Given the description of an element on the screen output the (x, y) to click on. 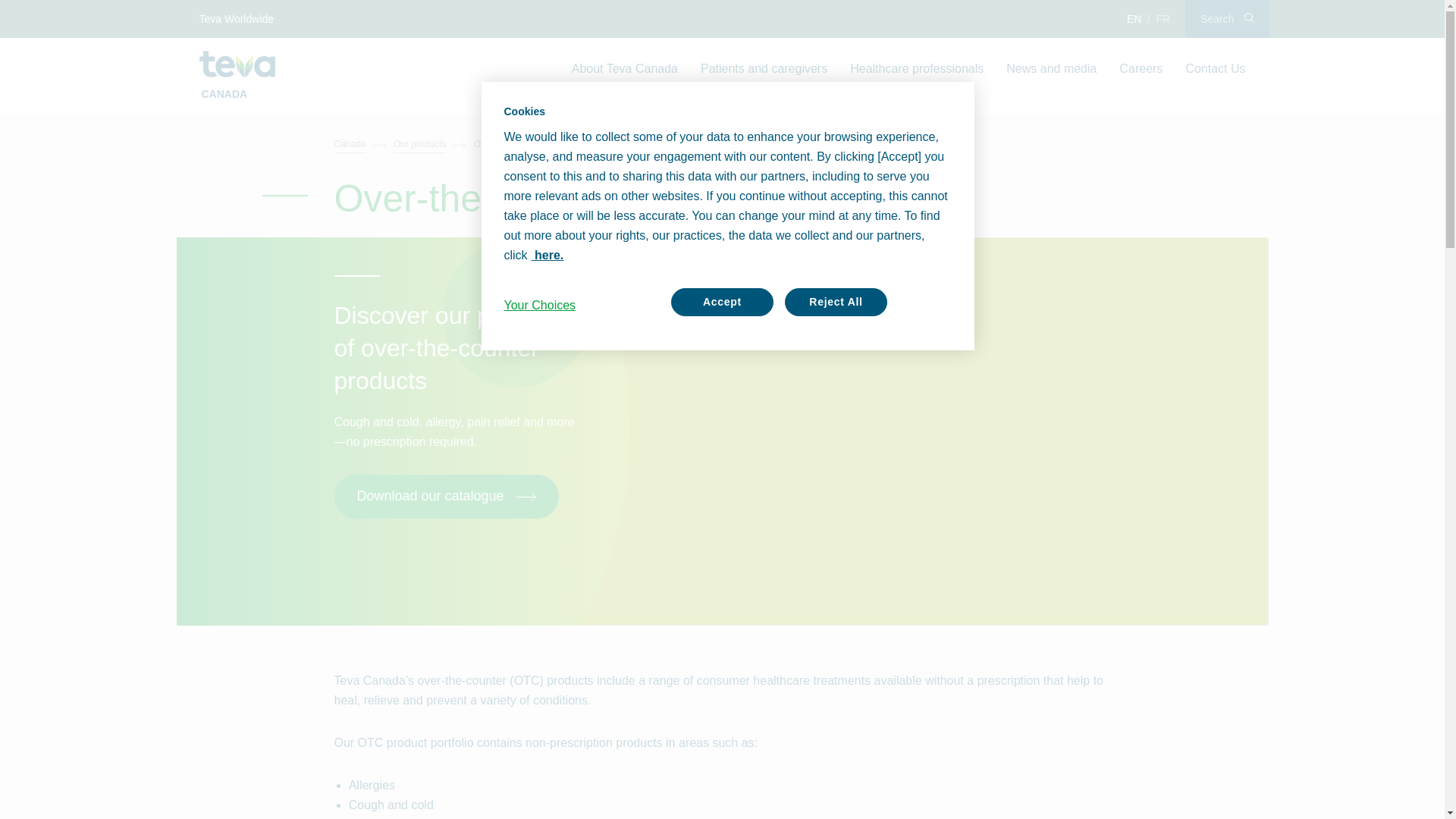
French (1163, 18)
Healthcare professionals (916, 68)
English (1133, 18)
About Teva Canada (624, 68)
Download our catalogue in pdf (445, 496)
Patients and caregivers (763, 68)
Teva Worldwide (236, 18)
Teva Canada (236, 63)
Search (1226, 18)
